Given the description of an element on the screen output the (x, y) to click on. 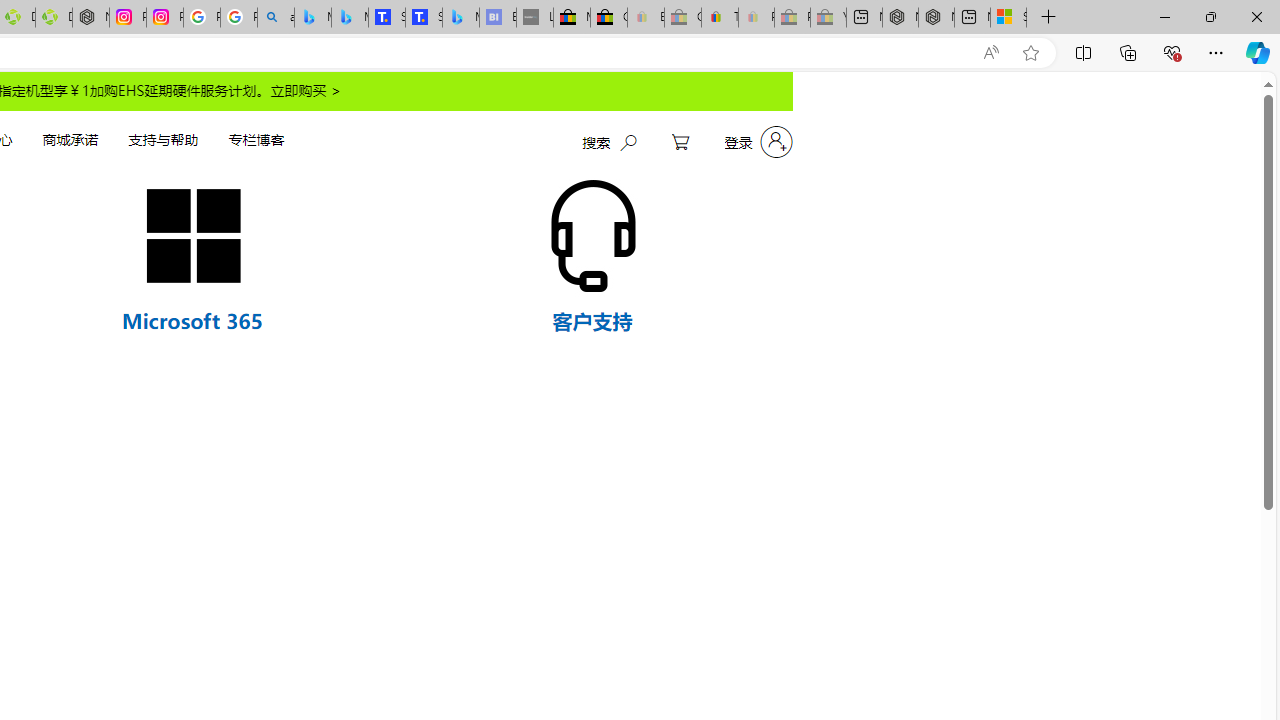
Threats and offensive language policy | eBay (719, 17)
Descarga Driver Updater (53, 17)
